Given the description of an element on the screen output the (x, y) to click on. 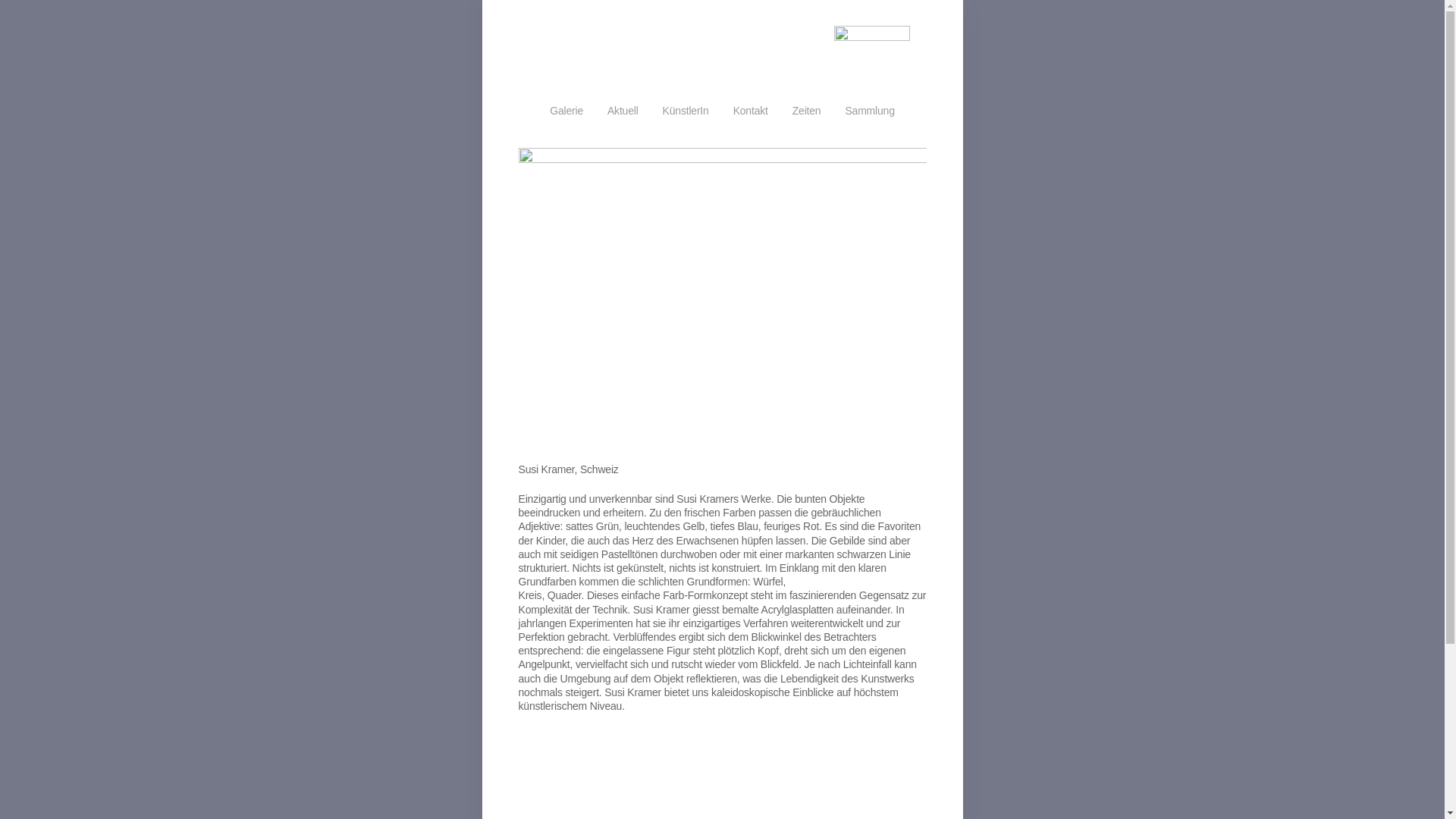
Galerie Element type: text (566, 110)
Sammlung Element type: text (869, 110)
Zeiten Element type: text (806, 110)
Kontakt Element type: text (750, 110)
Aktuell Element type: text (622, 110)
